Given the description of an element on the screen output the (x, y) to click on. 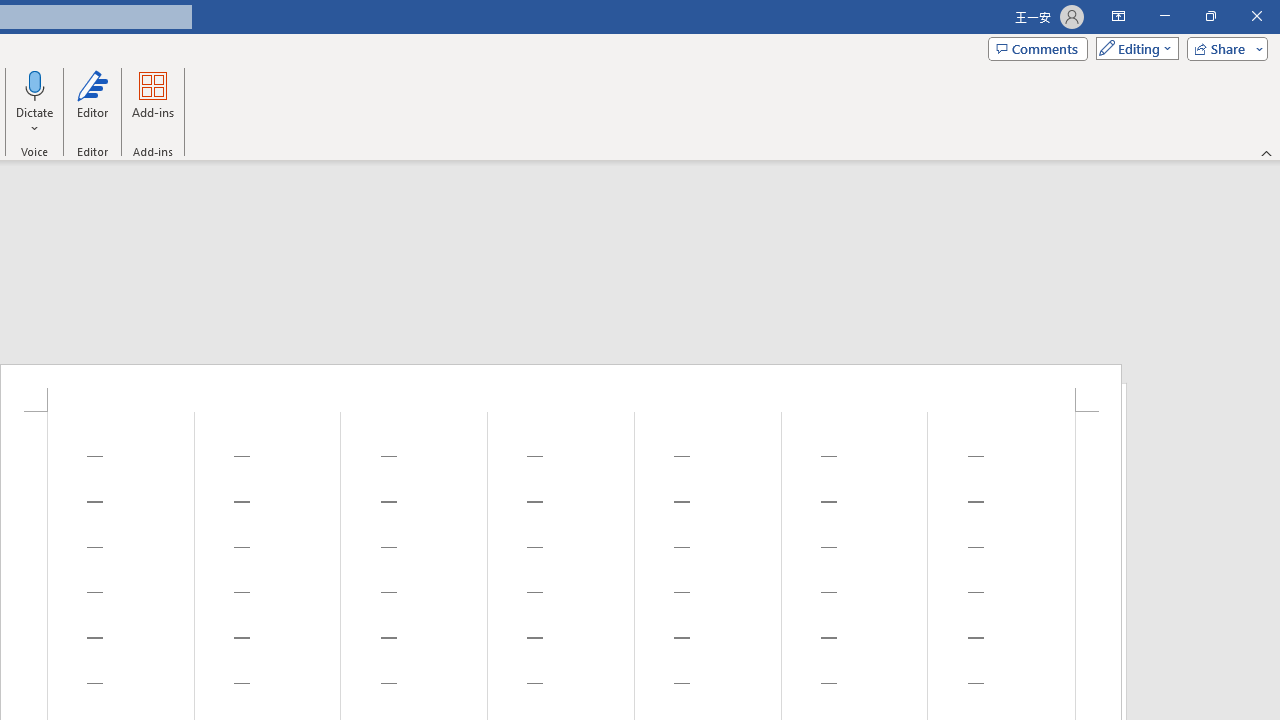
Restore Down (1210, 16)
